Given the description of an element on the screen output the (x, y) to click on. 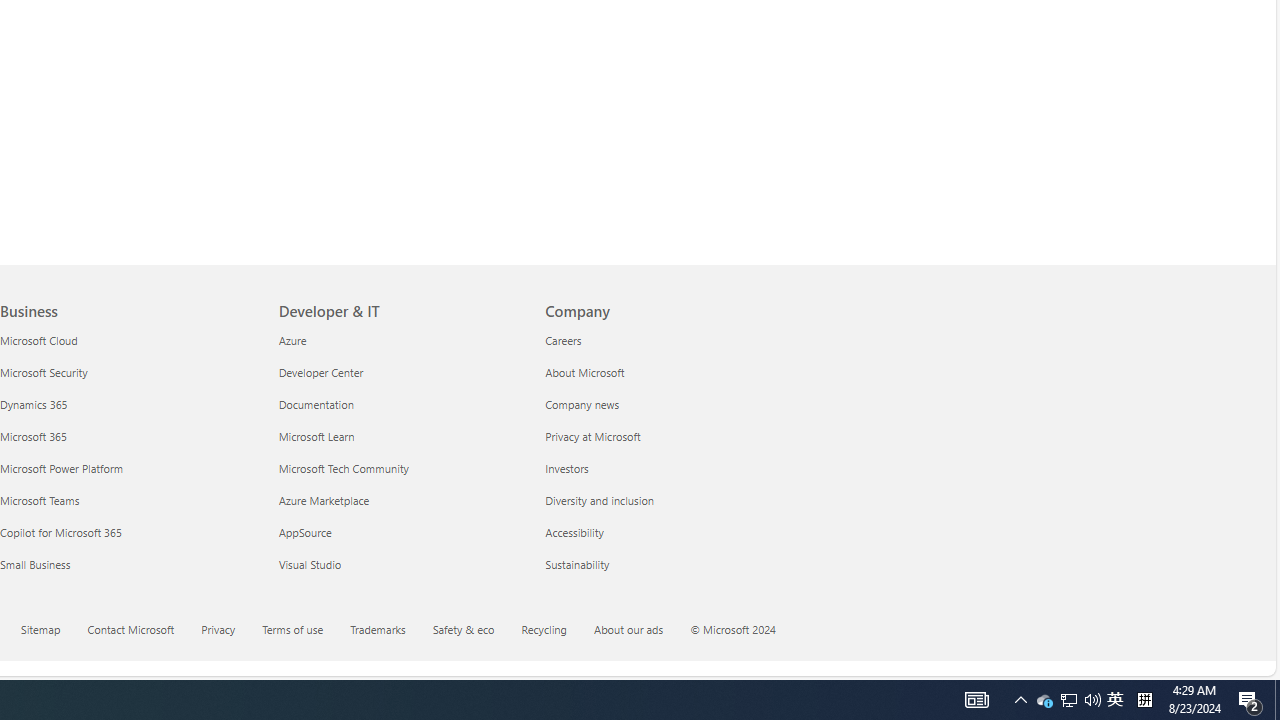
AppSource Developer & IT (304, 532)
About Microsoft Company (584, 372)
Careers (666, 340)
Privacy at Microsoft Company (593, 435)
Microsoft Tech Community (399, 468)
Trademarks (389, 631)
Developer Center (399, 371)
Microsoft Learn (399, 435)
Careers Company (563, 339)
Investors (666, 468)
Recycling (555, 631)
Investors Company (566, 467)
Safety & eco (463, 628)
Diversity and inclusion Company (600, 499)
